Given the description of an element on the screen output the (x, y) to click on. 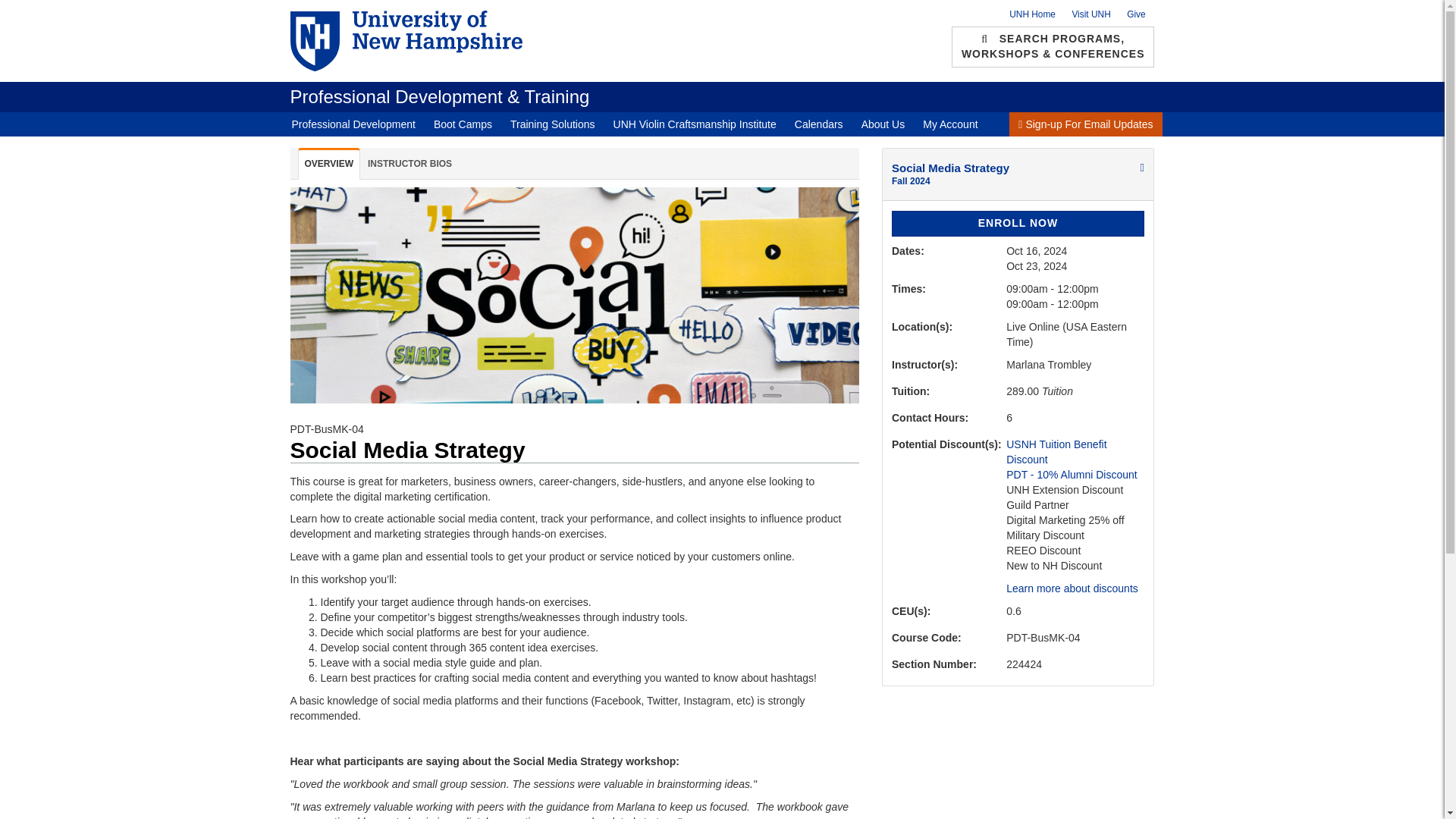
Home (439, 96)
Skip to main content (682, 4)
University of New Hampshire Homepage (425, 40)
